Given the description of an element on the screen output the (x, y) to click on. 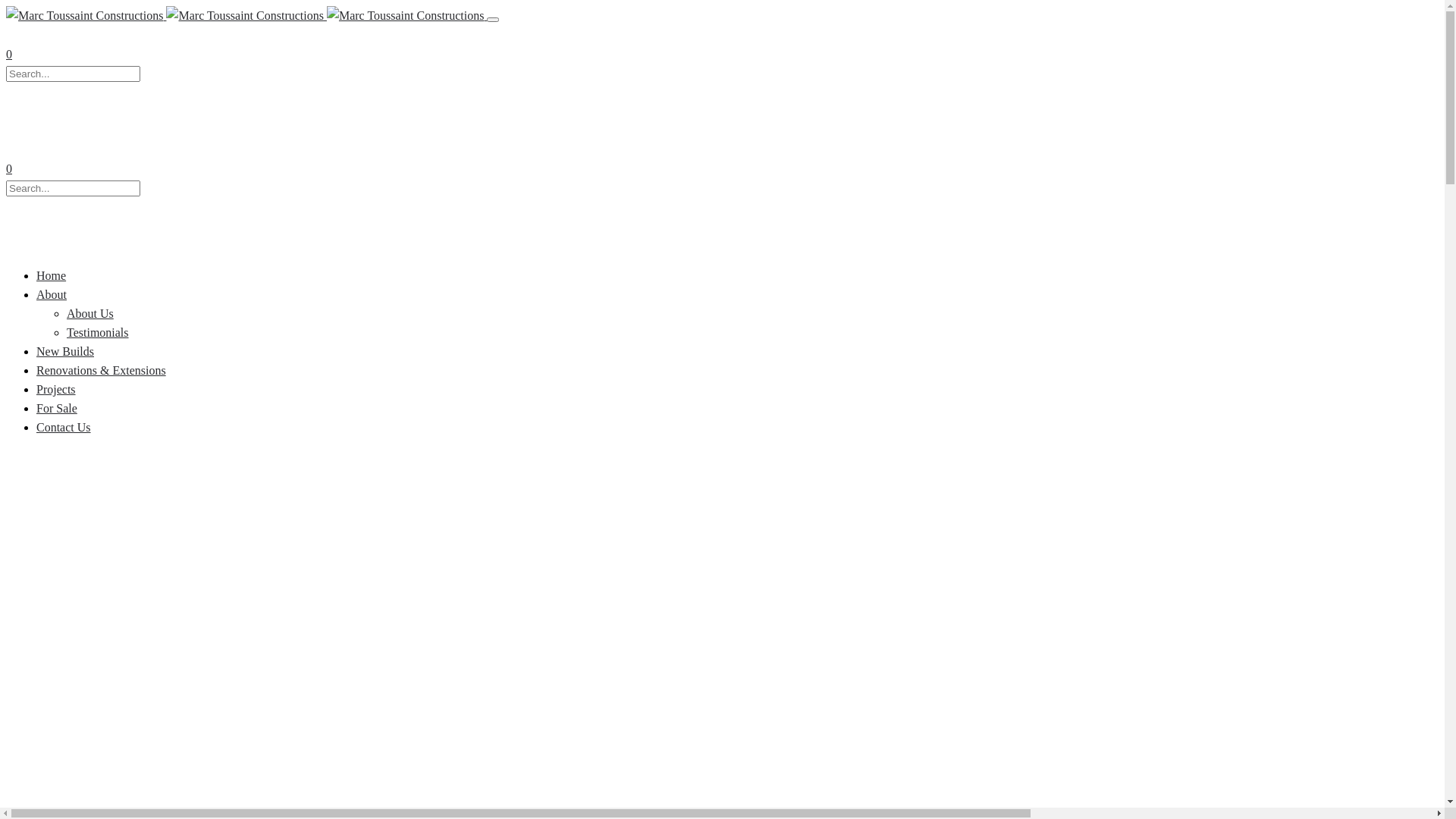
Renovations & Extensions Element type: text (101, 362)
0 Element type: text (9, 168)
Projects Element type: text (55, 381)
For Sale Element type: text (56, 399)
Home Element type: text (50, 267)
Contact Us Element type: text (63, 418)
Testimonials Element type: text (97, 332)
New Builds Element type: text (65, 343)
About Us Element type: text (89, 313)
About Element type: text (51, 286)
0 Element type: text (9, 53)
